Given the description of an element on the screen output the (x, y) to click on. 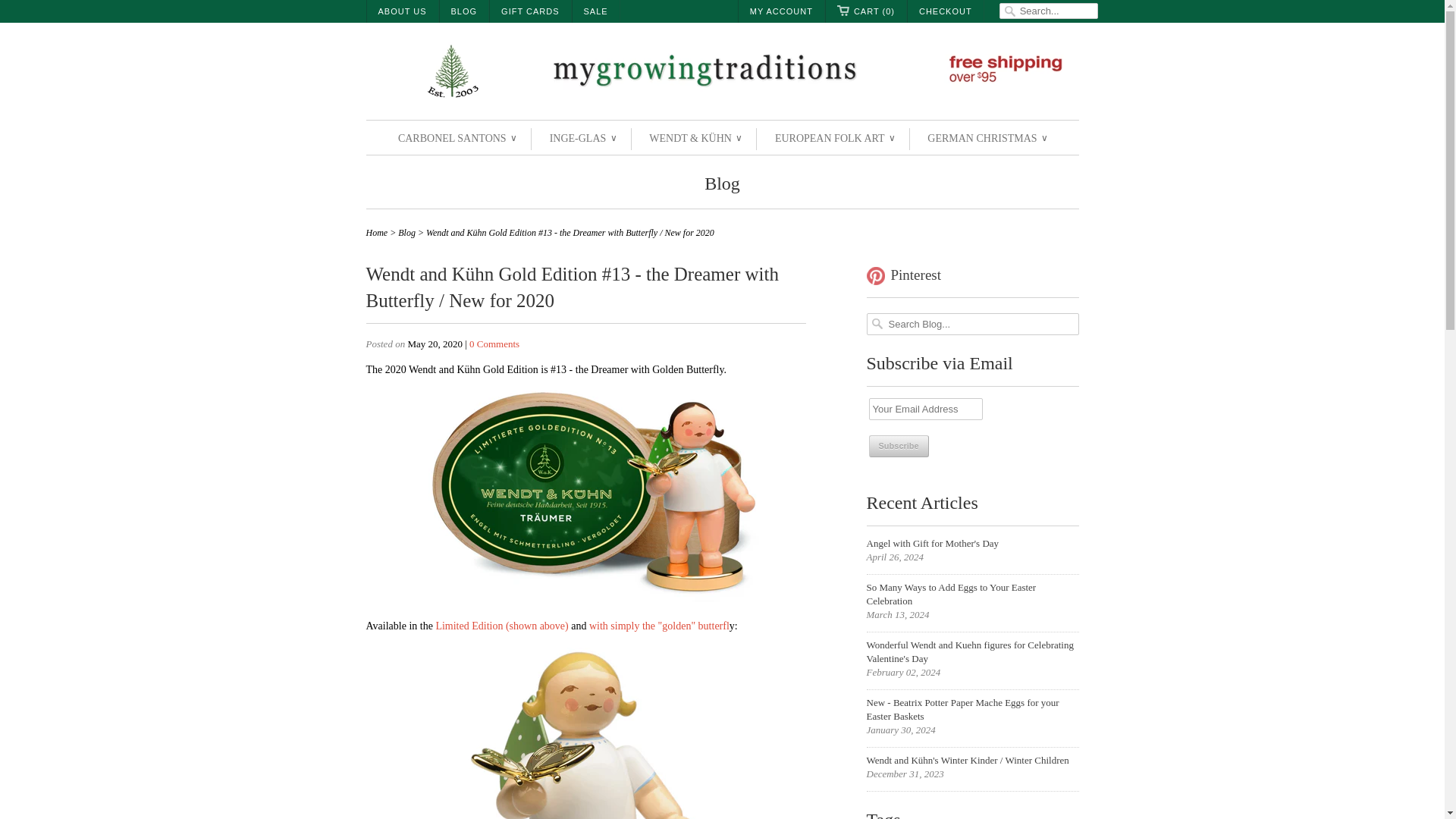
CHECKOUT (945, 11)
Checkout (945, 11)
SALE (595, 11)
MY ACCOUNT (780, 11)
ABOUT US (401, 11)
Carbonel Santons (456, 138)
GIFT CARDS (529, 11)
Shopping Cart (866, 11)
My Growing Traditions (721, 72)
My Account (780, 11)
